Given the description of an element on the screen output the (x, y) to click on. 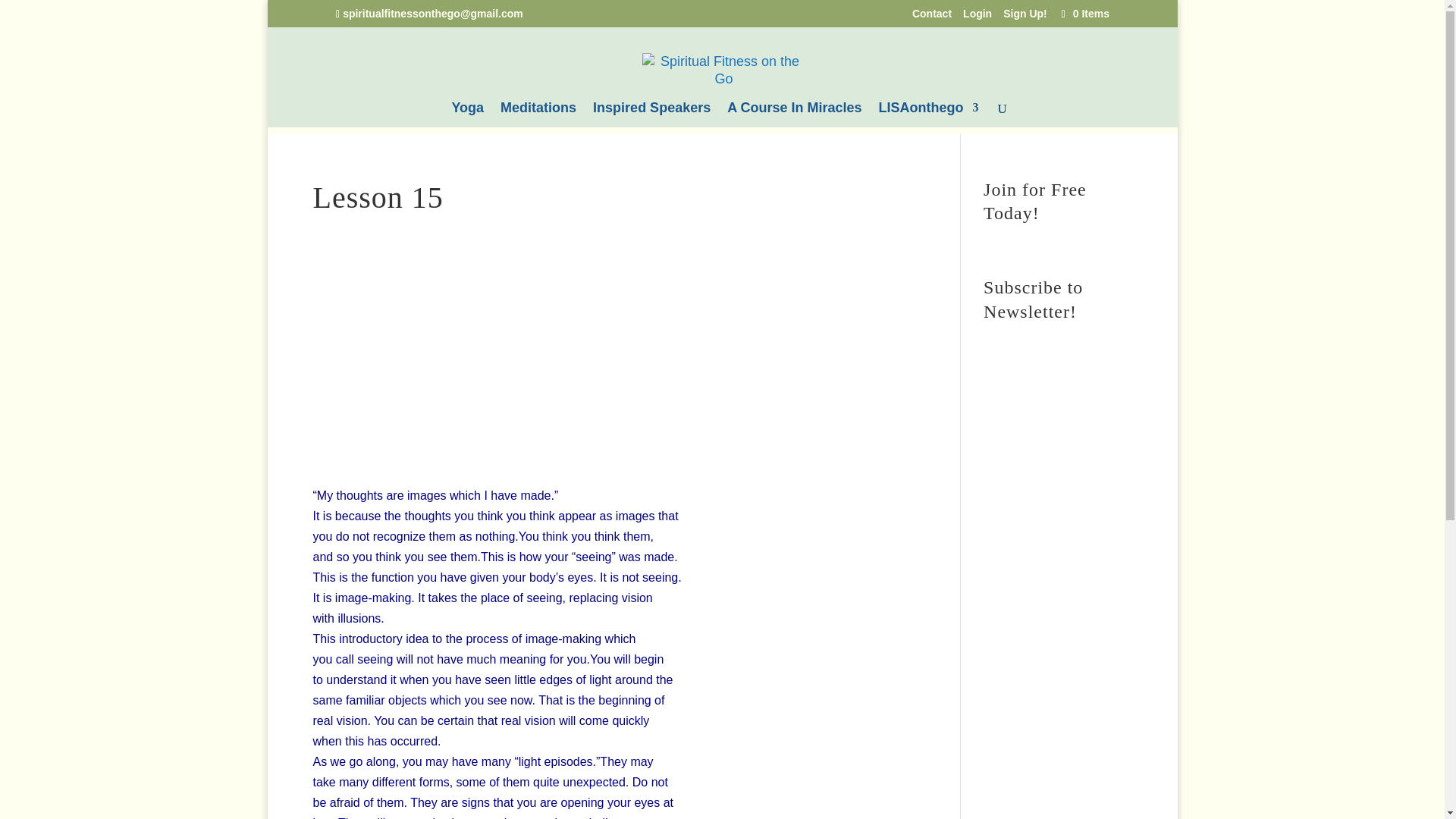
0 Items (1083, 13)
Contact (930, 16)
Login (976, 16)
Yoga (467, 114)
LISAonthego (927, 114)
Meditations (538, 114)
Inspired Speakers (651, 114)
A Course In Miracles (793, 114)
Sign Up! (1024, 16)
